Given the description of an element on the screen output the (x, y) to click on. 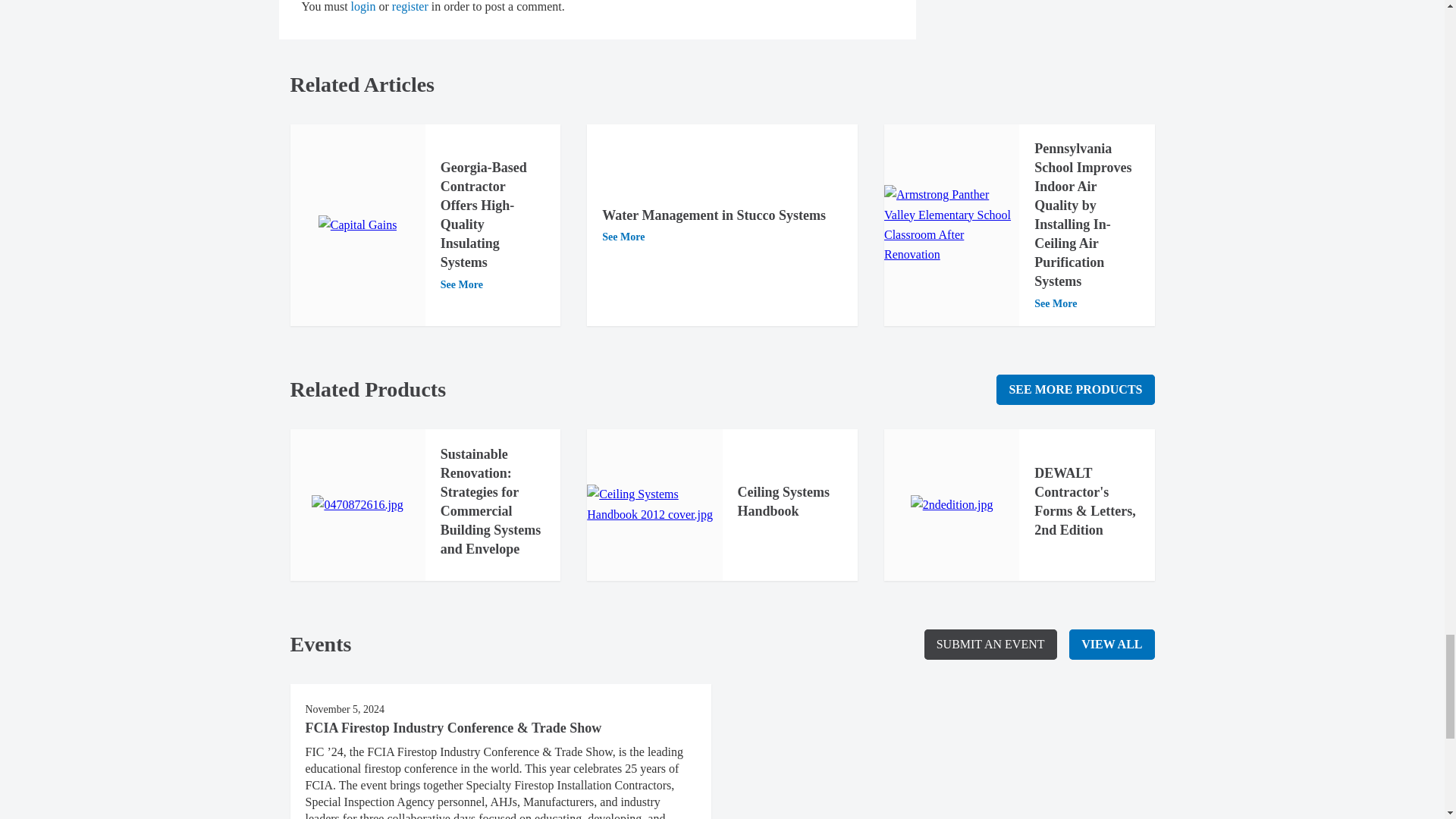
0470872616.jpg (357, 505)
2ndedition.jpg (951, 505)
Ceiling Systems Handbook 2012 cover.jpg (654, 504)
Capital Gains (357, 225)
